Given the description of an element on the screen output the (x, y) to click on. 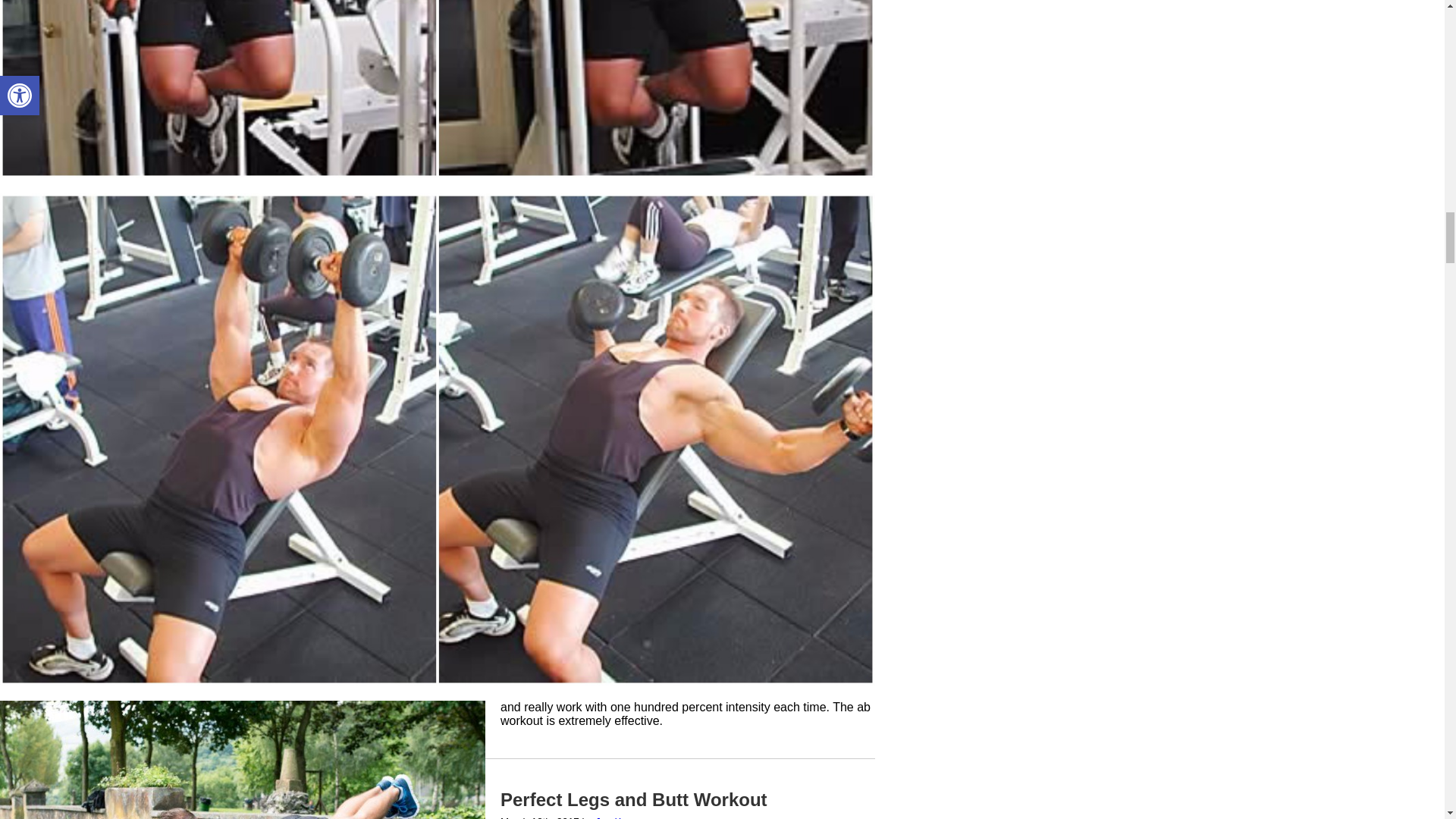
Posts by Joe Kozma (620, 817)
Perfect Legs and Butt Workout (633, 799)
Joe Kozma (620, 817)
Permanent Link to Perfect Legs and Butt Workout (633, 799)
